Given the description of an element on the screen output the (x, y) to click on. 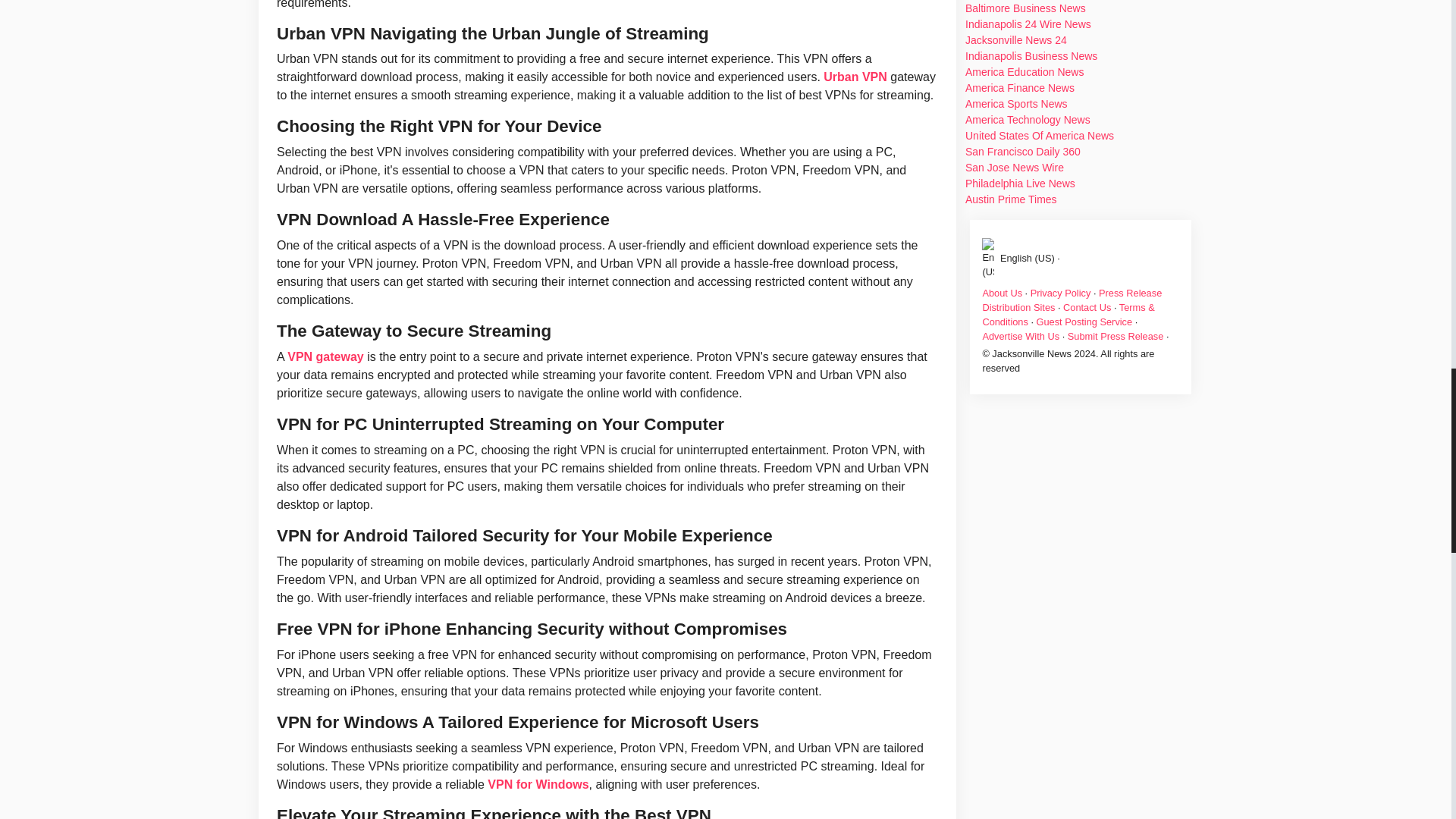
Urban VPN (855, 76)
VPN for Windows (537, 784)
VPN gateway (324, 356)
